Given the description of an element on the screen output the (x, y) to click on. 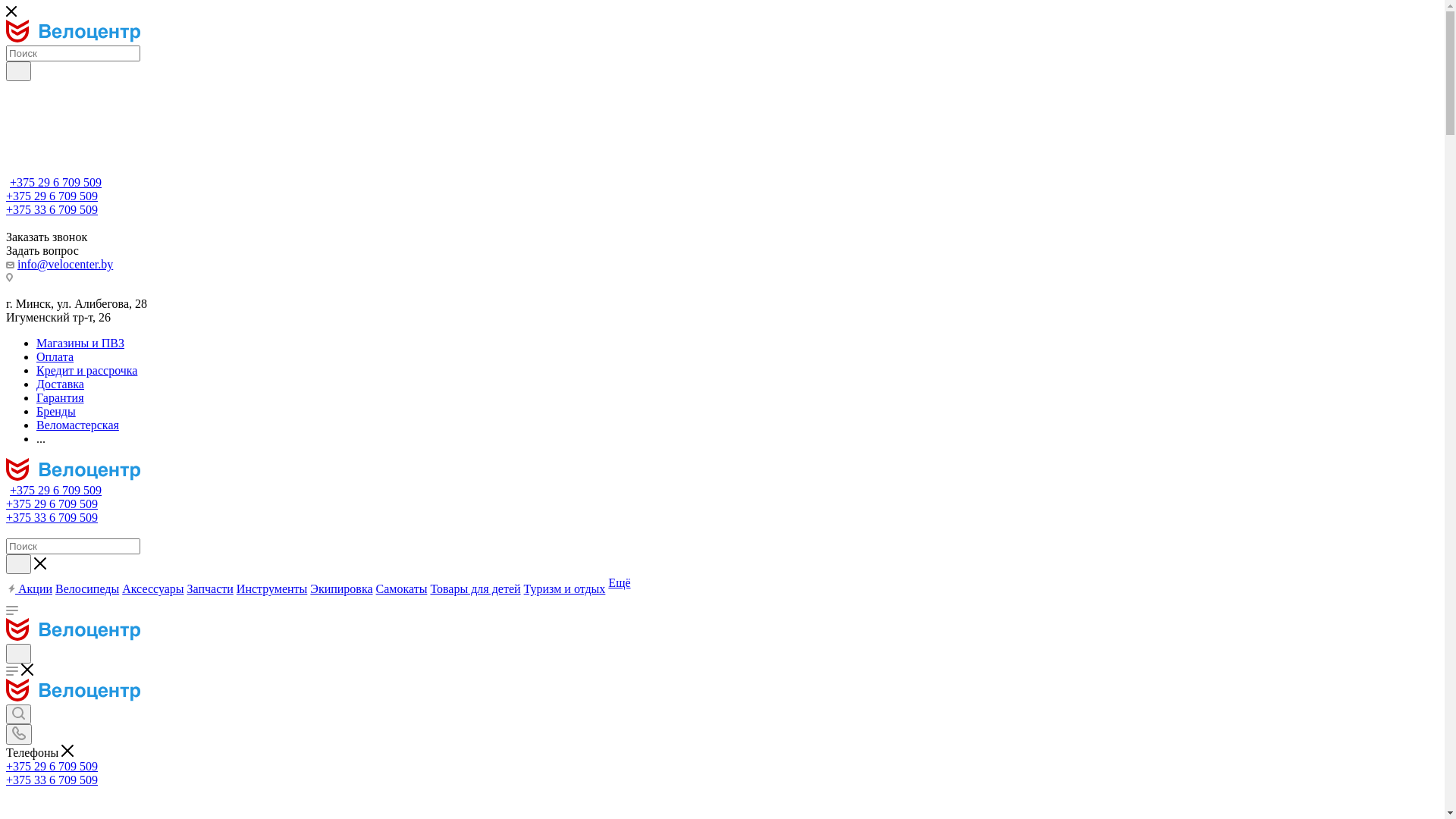
+375 29 6 709 509 Element type: text (55, 181)
+375 29 6 709 509 Element type: text (51, 503)
+375 33 6 709 509 Element type: text (51, 779)
+375 33 6 709 509 Element type: text (51, 517)
+375 29 6 709 509 Element type: text (51, 765)
info@velocenter.by Element type: text (64, 263)
+375 29 6 709 509 Element type: text (55, 489)
+375 33 6 709 509 Element type: text (51, 209)
+375 29 6 709 509 Element type: text (51, 195)
